Given the description of an element on the screen output the (x, y) to click on. 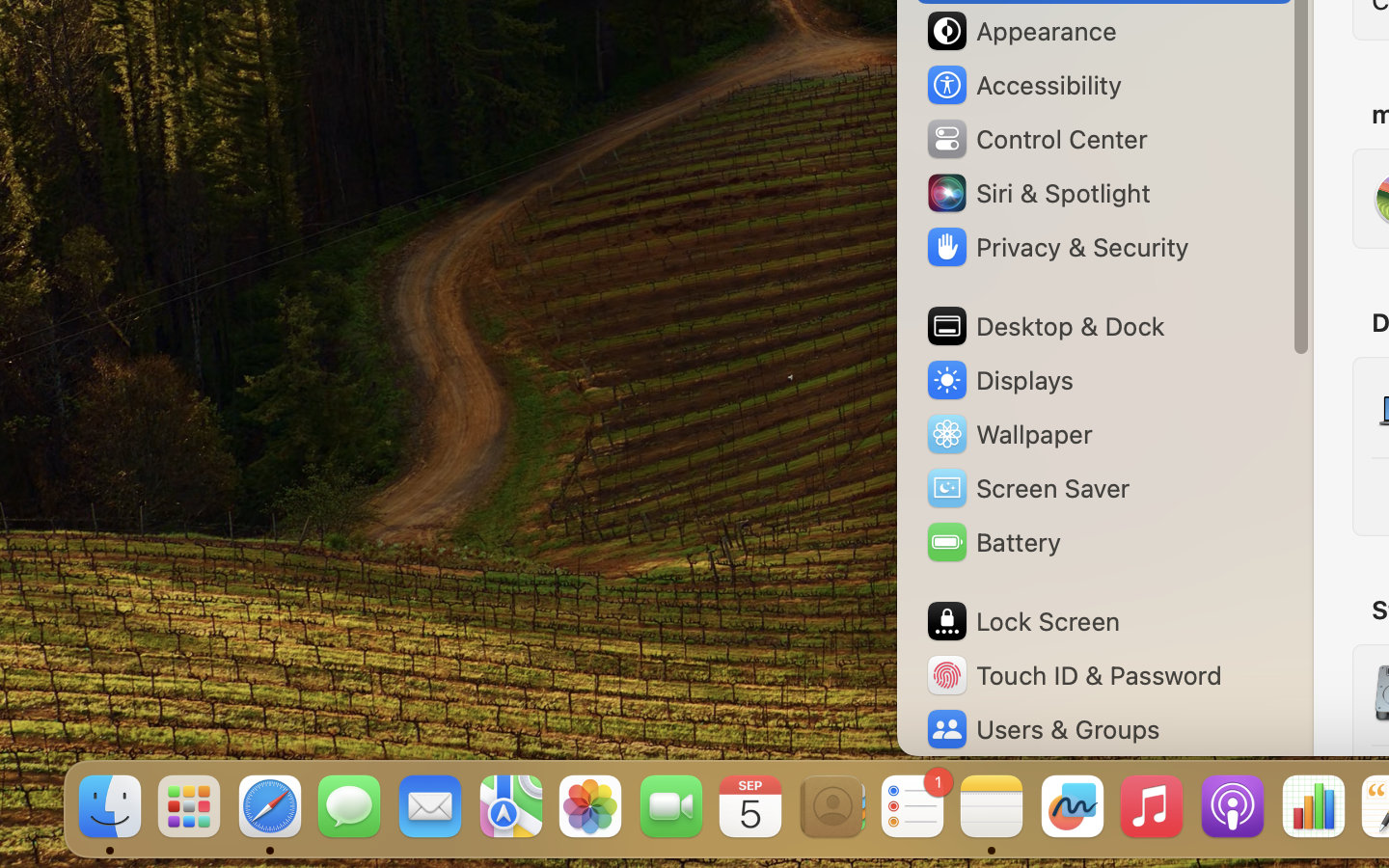
Control Center Element type: AXStaticText (1035, 138)
Privacy & Security Element type: AXStaticText (1056, 246)
Lock Screen Element type: AXStaticText (1022, 620)
Desktop & Dock Element type: AXStaticText (1044, 325)
Appearance Element type: AXStaticText (1020, 30)
